Given the description of an element on the screen output the (x, y) to click on. 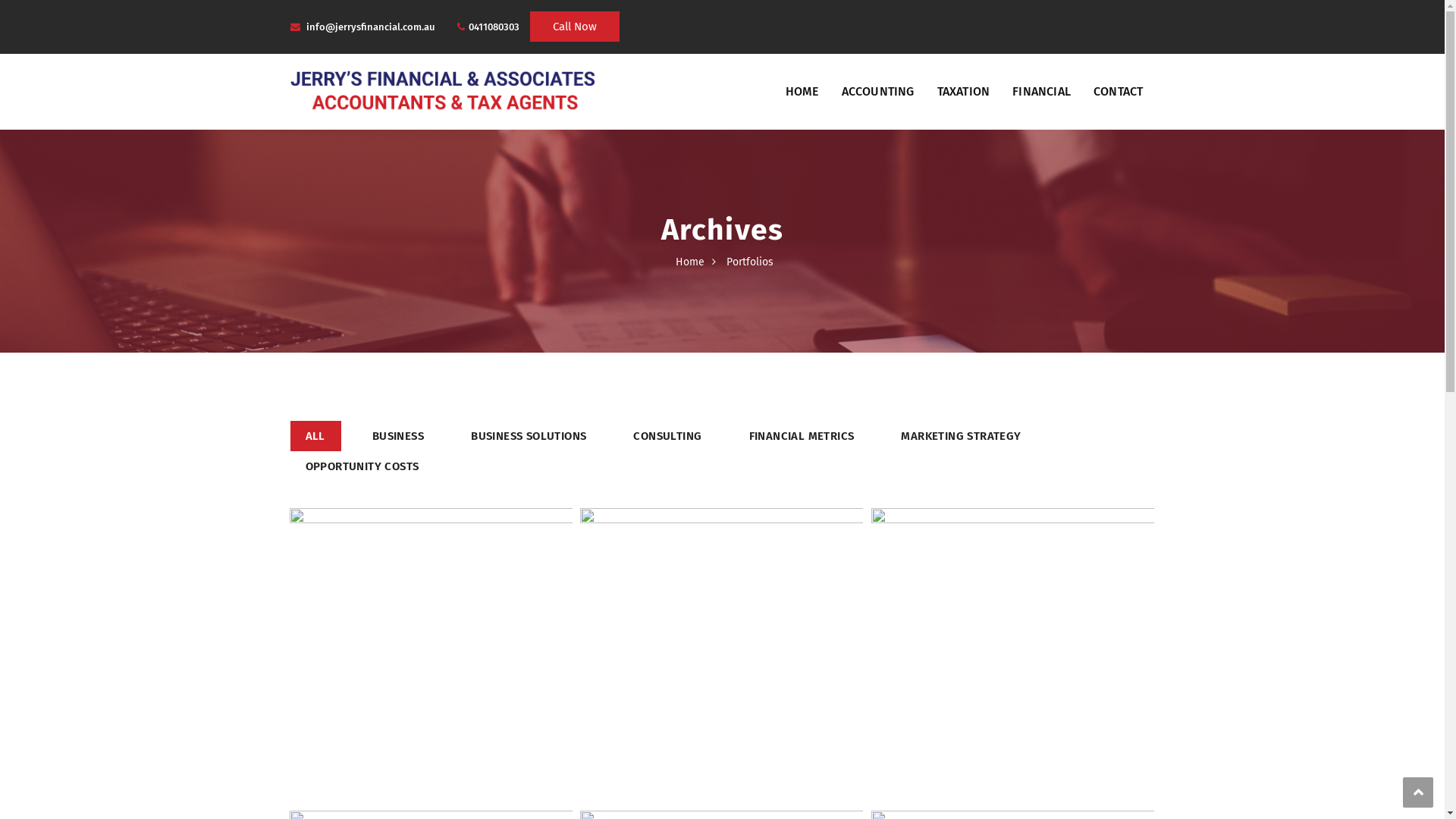
HOME Element type: text (802, 91)
CONTACT Element type: text (1118, 91)
FINANCIAL METRICS Element type: text (801, 435)
BUSINESS Element type: text (398, 435)
Call Now Element type: text (574, 26)
MARKETING STRATEGY Element type: text (960, 435)
CONSULTING Element type: text (667, 435)
ALL Element type: text (314, 435)
ACCOUNTING Element type: text (877, 91)
Home Element type: text (689, 261)
OPPORTUNITY COSTS Element type: text (361, 466)
0411080303 Element type: text (493, 26)
TAXATION Element type: text (963, 91)
FINANCIAL Element type: text (1041, 91)
BUSINESS SOLUTIONS Element type: text (528, 435)
Call Now Element type: text (573, 26)
info@jerrysfinancial.com.au Element type: text (370, 26)
